Given the description of an element on the screen output the (x, y) to click on. 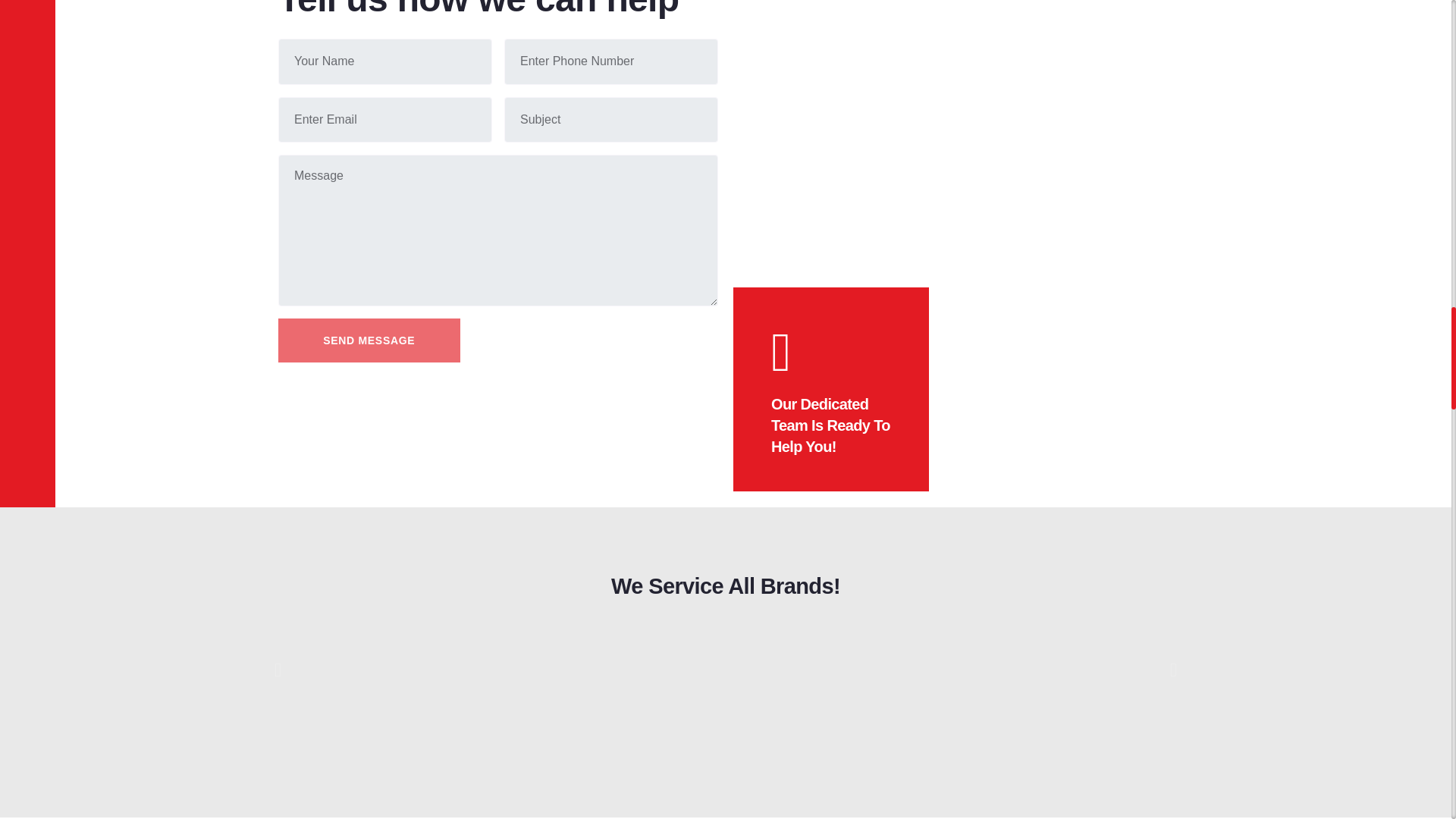
Send Message (369, 340)
